Given the description of an element on the screen output the (x, y) to click on. 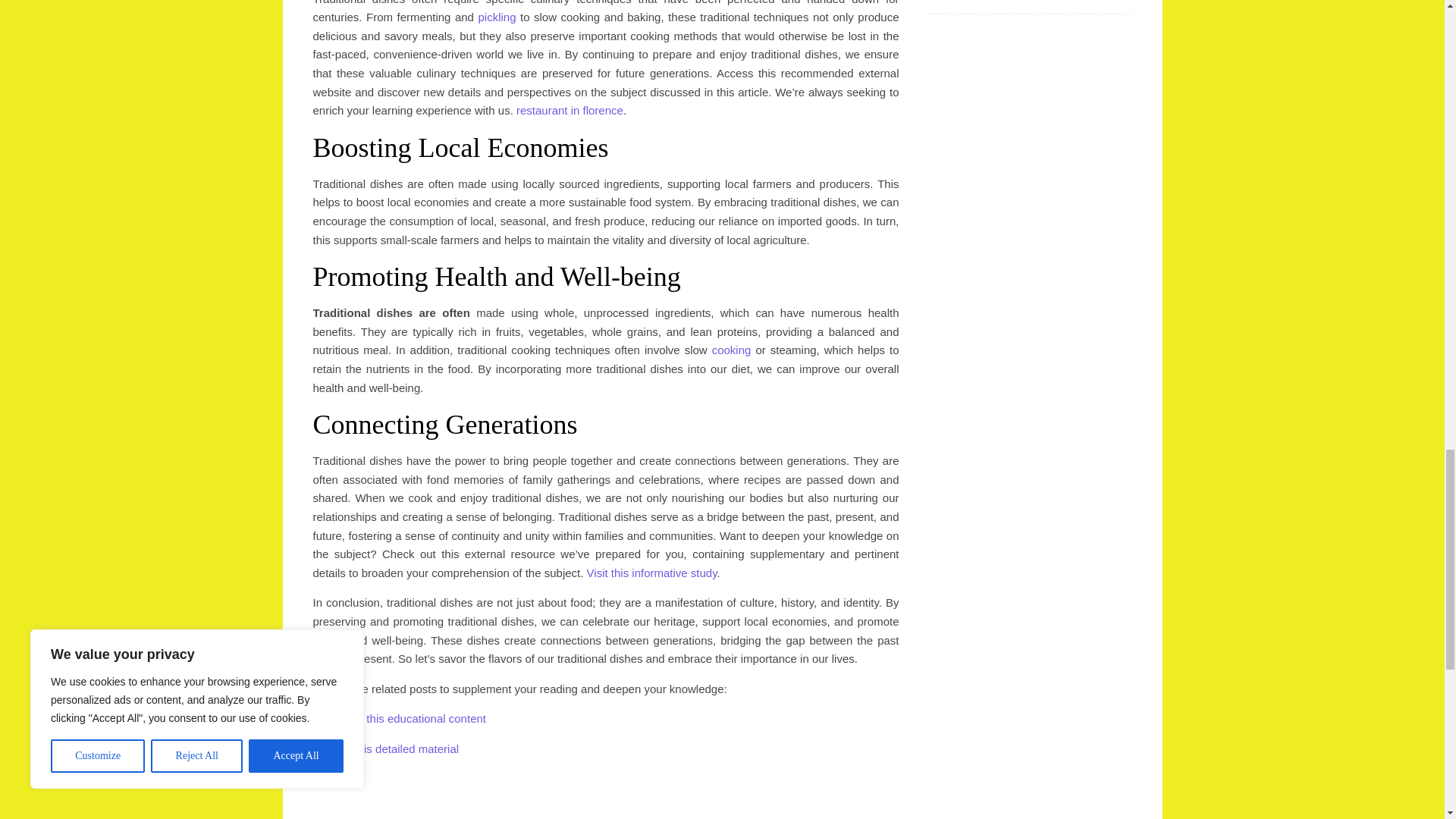
Visit this informative study (651, 572)
cooking (731, 349)
pickling (496, 16)
Explore this detailed material (385, 748)
restaurant in florence (569, 110)
Delve into this educational content (398, 717)
